Given the description of an element on the screen output the (x, y) to click on. 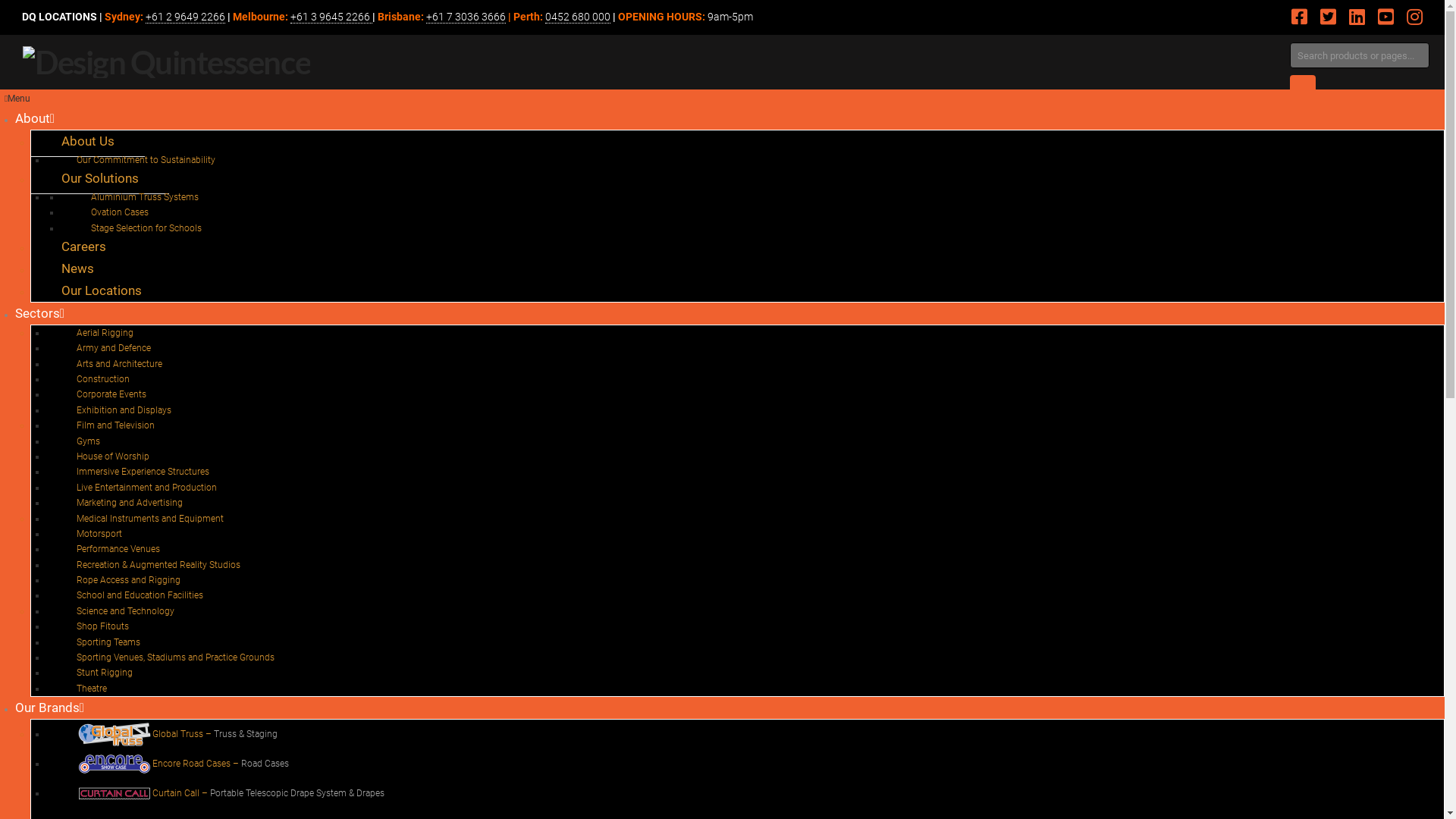
Marketing and Advertising Element type: text (129, 502)
Exhibition and Displays Element type: text (123, 410)
+61 3 9645 2266 Element type: text (331, 16)
Gyms Element type: text (88, 441)
Live Entertainment and Production Element type: text (146, 487)
Sporting Venues, Stadiums and Practice Grounds Element type: text (175, 657)
School and Education Facilities Element type: text (139, 595)
About Us Element type: text (87, 140)
YouTube Element type: hover (1385, 16)
About Element type: text (34, 117)
Careers Element type: text (83, 246)
Corporate Events Element type: text (111, 394)
Aerial Rigging Element type: text (104, 332)
+61 7 3036 3666 Element type: text (465, 16)
Ovation Cases Element type: text (119, 212)
Instagram Element type: hover (1414, 16)
Twitter Element type: hover (1328, 16)
Immersive Experience Structures Element type: text (142, 471)
Rope Access and Rigging Element type: text (128, 580)
Arts and Architecture Element type: text (119, 363)
Sectors Element type: text (39, 312)
Sporting Teams Element type: text (108, 642)
+61 2 9649 2266 Element type: text (185, 16)
LinkedIn Element type: hover (1357, 16)
Film and Television Element type: text (115, 425)
Performance Venues Element type: text (118, 548)
News Element type: text (77, 268)
Stage Selection for Schools Element type: text (146, 228)
Our Commitment to Sustainability Element type: text (145, 159)
HOME Element type: text (18, 141)
Medical Instruments and Equipment Element type: text (150, 518)
Motorsport Element type: text (99, 533)
Construction Element type: text (103, 379)
Our Brands Element type: text (49, 707)
Science and Technology Element type: text (125, 611)
Stunt Rigging Element type: text (104, 672)
Army and Defence Element type: text (113, 347)
PAGE NOT FOUND Element type: text (71, 141)
Our Solutions Element type: text (100, 178)
Menu Element type: text (17, 98)
Shop Fitouts Element type: text (102, 626)
Our Locations Element type: text (101, 290)
0452 680 000 Element type: text (577, 16)
Theatre Element type: text (91, 688)
Recreation & Augmented Reality Studios Element type: text (158, 564)
House of Worship Element type: text (112, 456)
Aluminium Truss Systems Element type: text (144, 197)
Facebook Element type: hover (1299, 16)
